Given the description of an element on the screen output the (x, y) to click on. 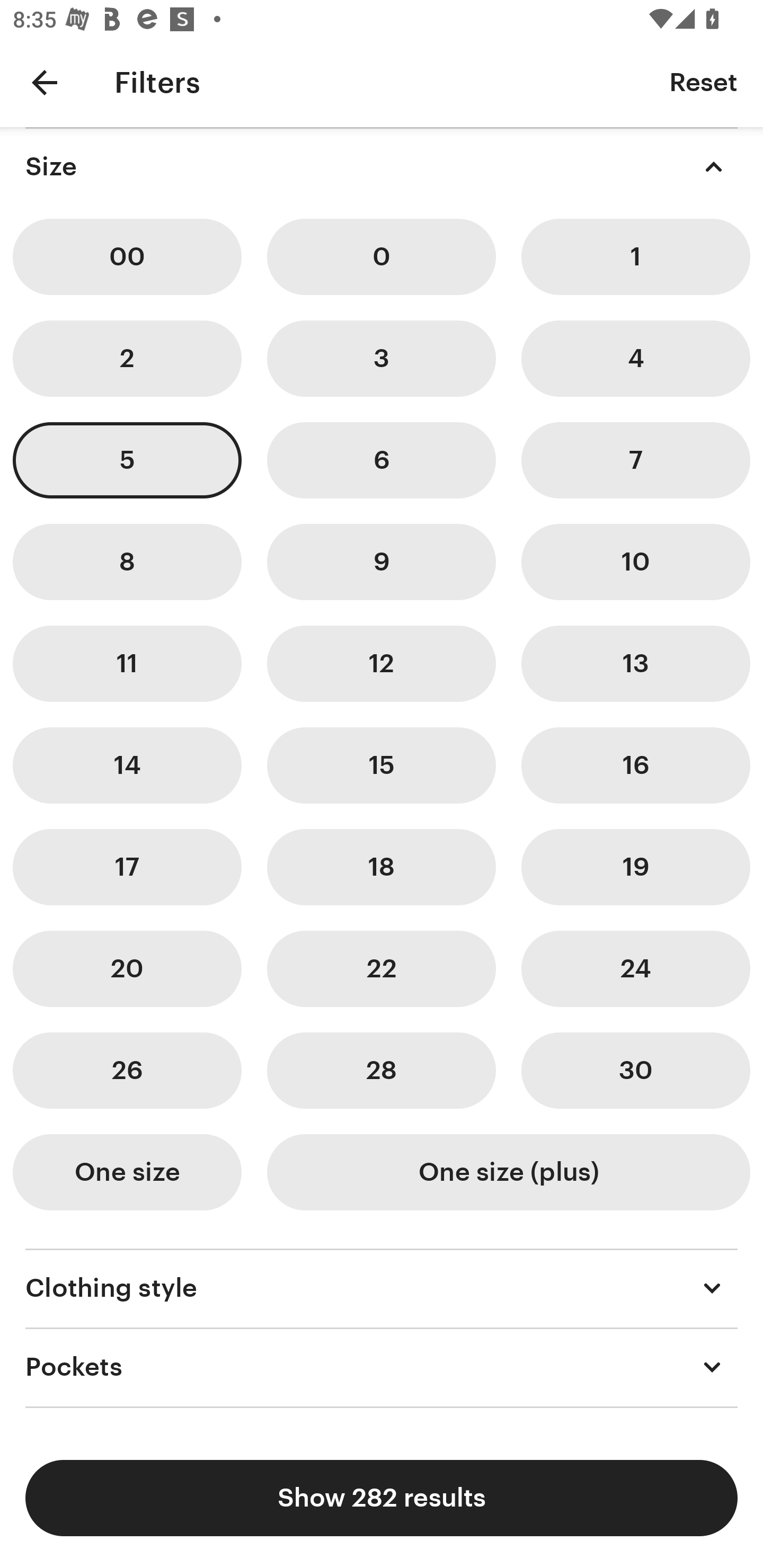
Navigate up (44, 82)
Reset (703, 81)
Size (381, 166)
00 (126, 256)
0 (381, 256)
1 (635, 256)
2 (126, 357)
3 (381, 357)
4 (635, 357)
5 (126, 459)
6 (381, 459)
7 (635, 459)
8 (126, 561)
9 (381, 561)
10 (635, 561)
11 (126, 663)
12 (381, 663)
13 (635, 663)
14 (126, 764)
15 (381, 764)
16 (635, 764)
17 (126, 866)
18 (381, 866)
19 (635, 866)
20 (126, 968)
22 (381, 968)
24 (635, 968)
26 (126, 1069)
28 (381, 1069)
30 (635, 1069)
One size (126, 1171)
One size (plus) (508, 1171)
Clothing style (381, 1288)
Pockets (381, 1367)
Show 282 results Show 1,191 results (381, 1497)
